Given the description of an element on the screen output the (x, y) to click on. 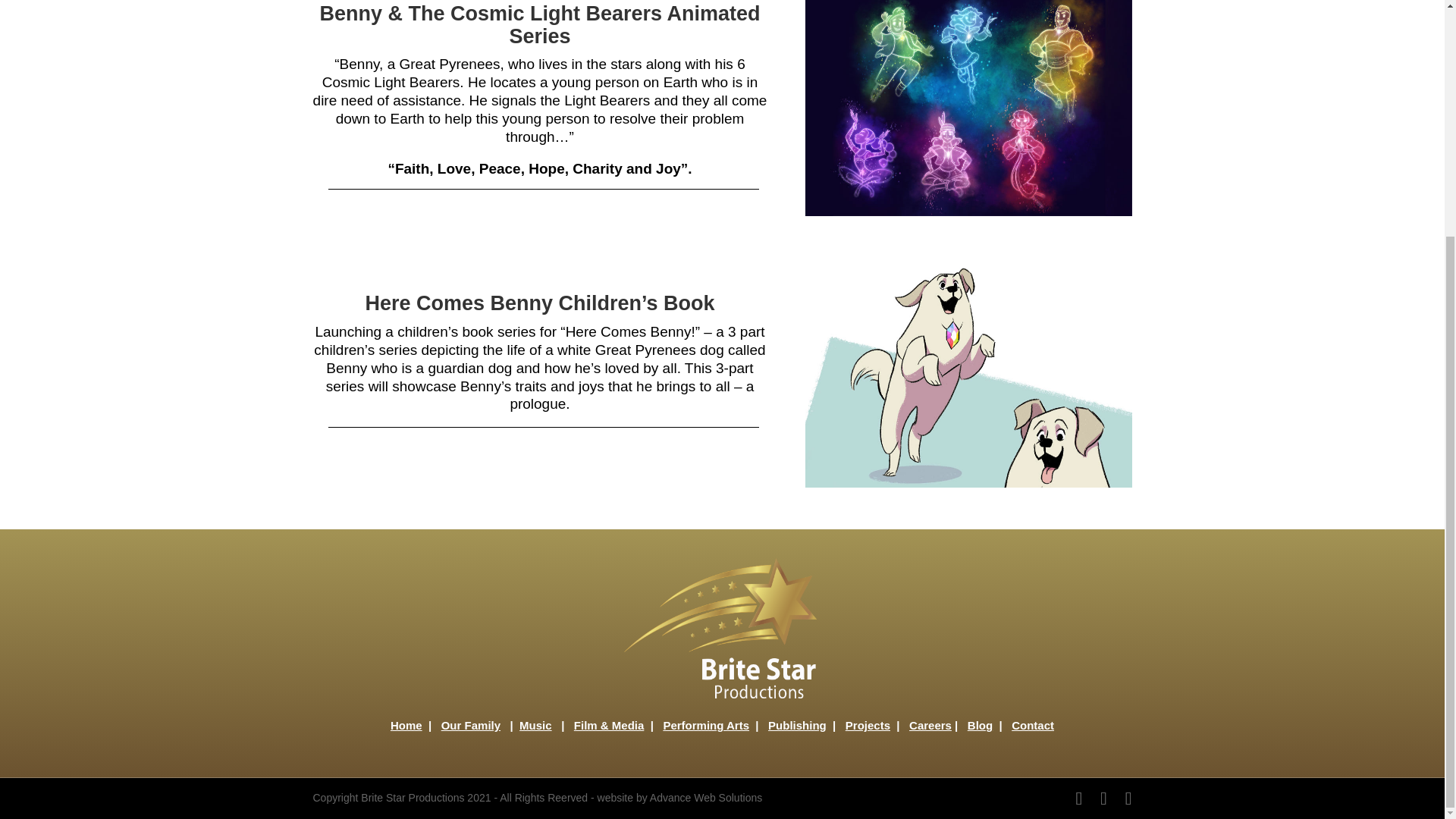
big-logo (721, 629)
Publishing (797, 725)
Our Family (470, 725)
Music (535, 725)
Blog (980, 725)
Performing Arts (705, 725)
Projects (867, 725)
6 (968, 108)
Contact (1032, 725)
bennyh (968, 373)
